Given the description of an element on the screen output the (x, y) to click on. 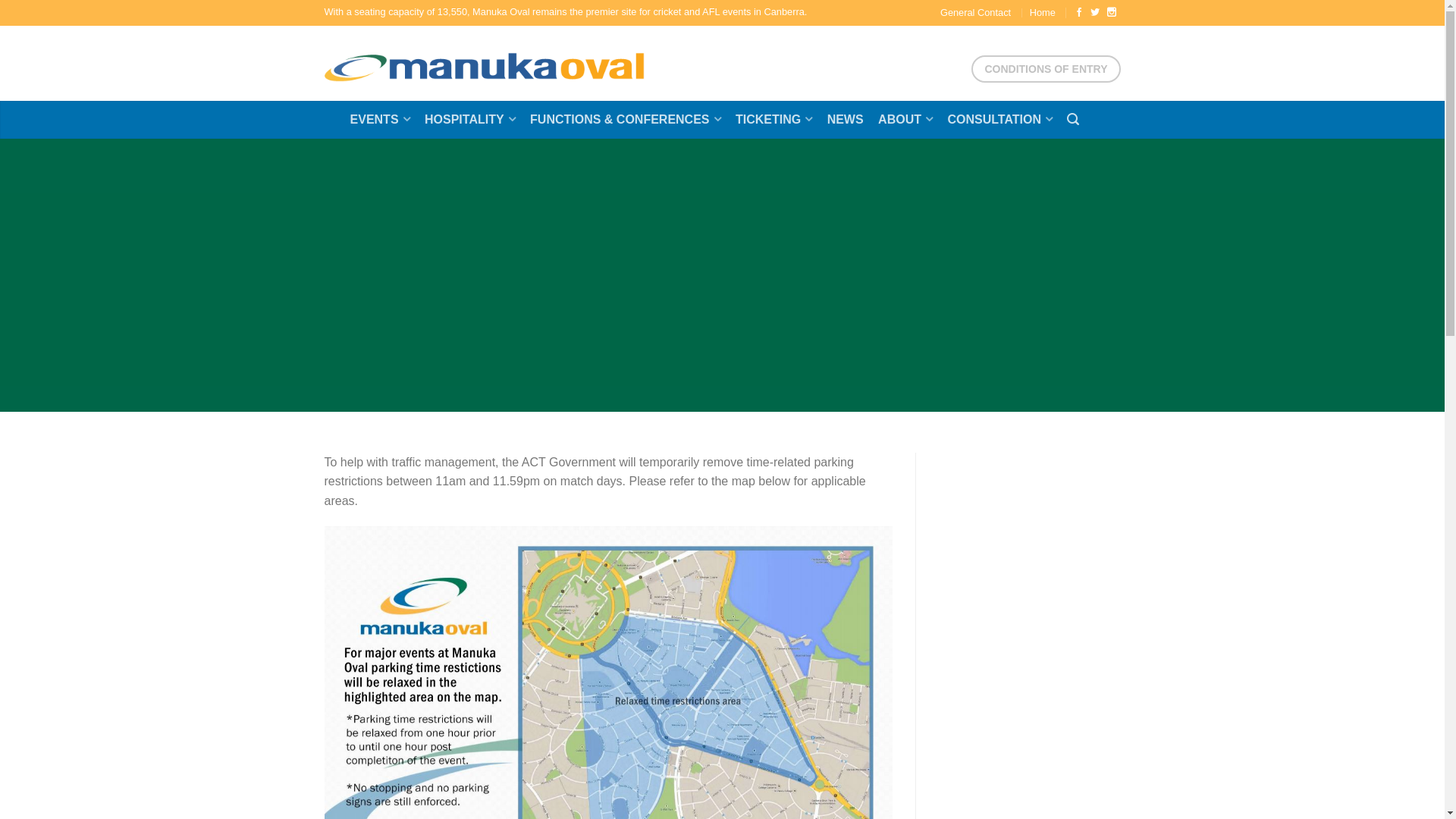
Follow us on Instagram Element type: hover (1112, 11)
General Contact Element type: text (975, 12)
CONSULTATION Element type: text (1005, 119)
TICKETING Element type: text (779, 119)
HOSPITALITY Element type: text (475, 119)
Follow us on Facebook Element type: hover (1078, 11)
FUNCTIONS & CONFERENCES Element type: text (630, 119)
Home Element type: text (1042, 12)
ABOUT Element type: text (911, 119)
NEWS Element type: text (851, 119)
CONDITIONS OF ENTRY Element type: text (1045, 68)
EVENTS Element type: text (385, 119)
Follow us on Twitter Element type: hover (1095, 11)
Manuka Oval - Canberra, ACT Element type: hover (485, 63)
